Given the description of an element on the screen output the (x, y) to click on. 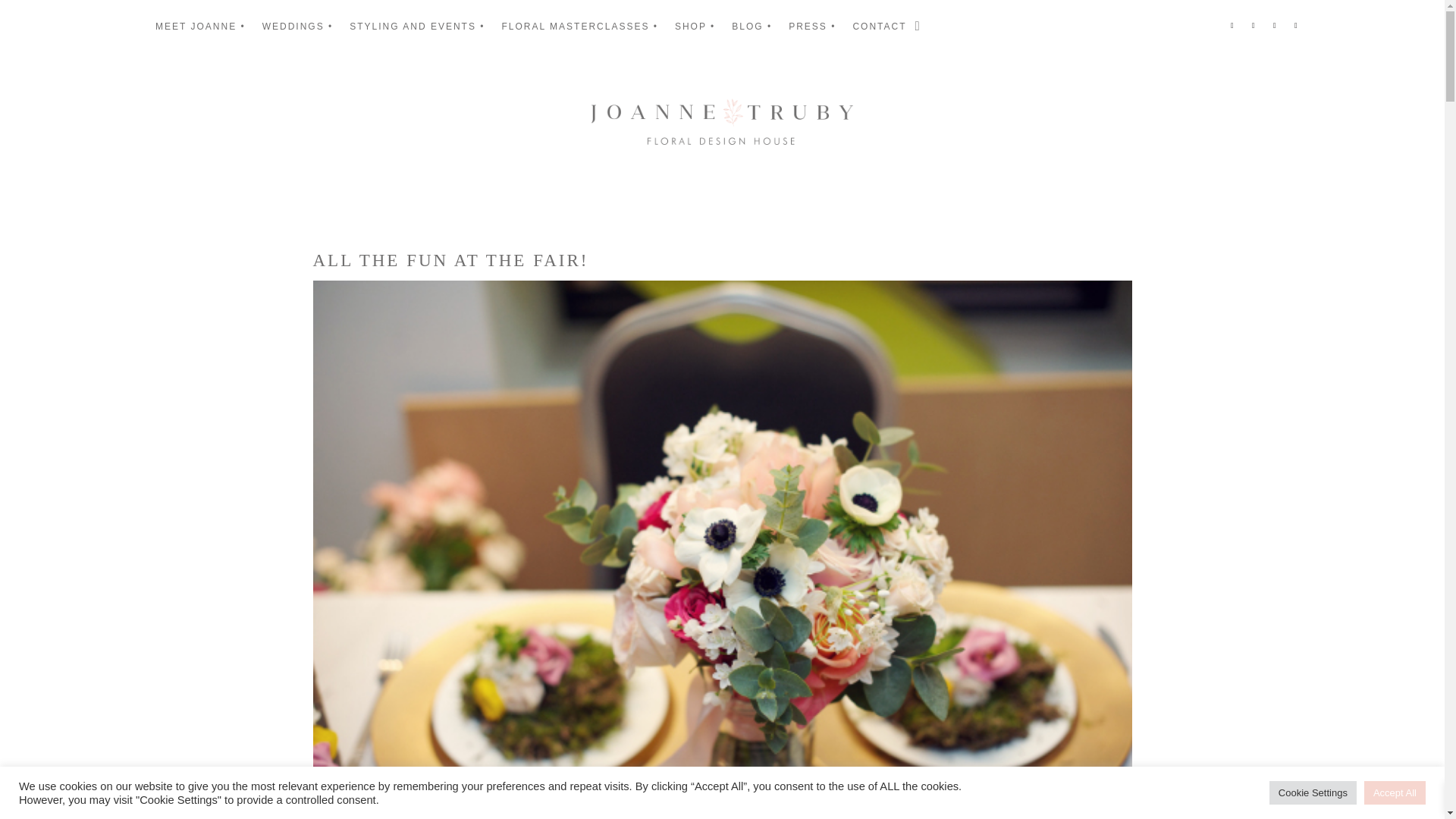
Follow on Pinterest (1274, 25)
CONTACT (878, 29)
joanne-truby (722, 121)
Follow on Facebook (1232, 25)
Follow on X (1295, 25)
Follow on Instagram (1253, 25)
